Given the description of an element on the screen output the (x, y) to click on. 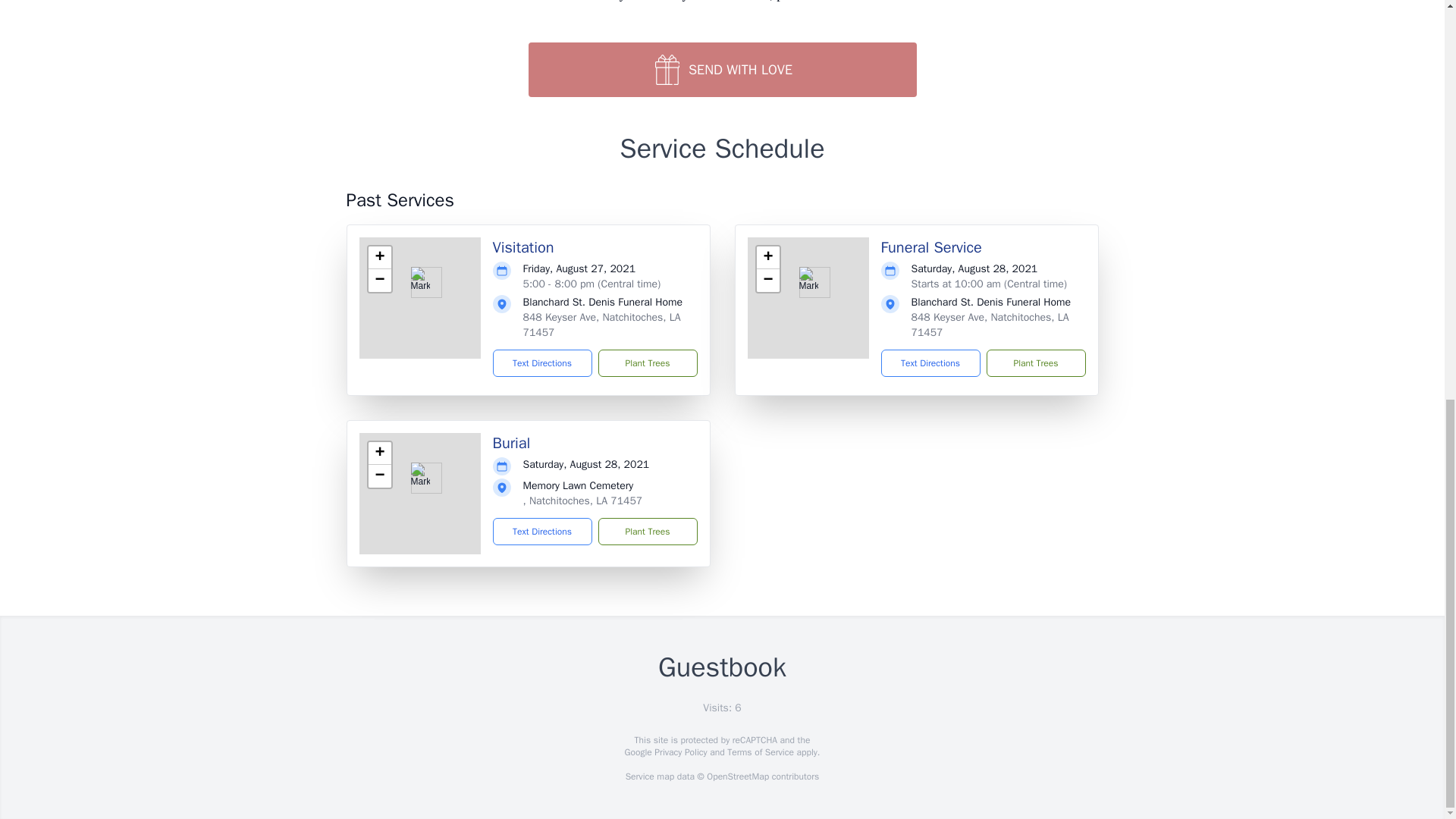
Zoom out (379, 476)
Zoom in (379, 453)
SEND WITH LOVE (721, 69)
Plant Trees (1034, 362)
, Natchitoches, LA 71457 (582, 500)
Zoom in (767, 257)
848 Keyser Ave, Natchitoches, LA 71457 (989, 325)
Text Directions (542, 362)
Zoom out (767, 280)
memorial trees (424, 0)
848 Keyser Ave, Natchitoches, LA 71457 (601, 325)
flower store (895, 0)
Plant Trees (646, 362)
Text Directions (929, 362)
Zoom out (379, 280)
